Given the description of an element on the screen output the (x, y) to click on. 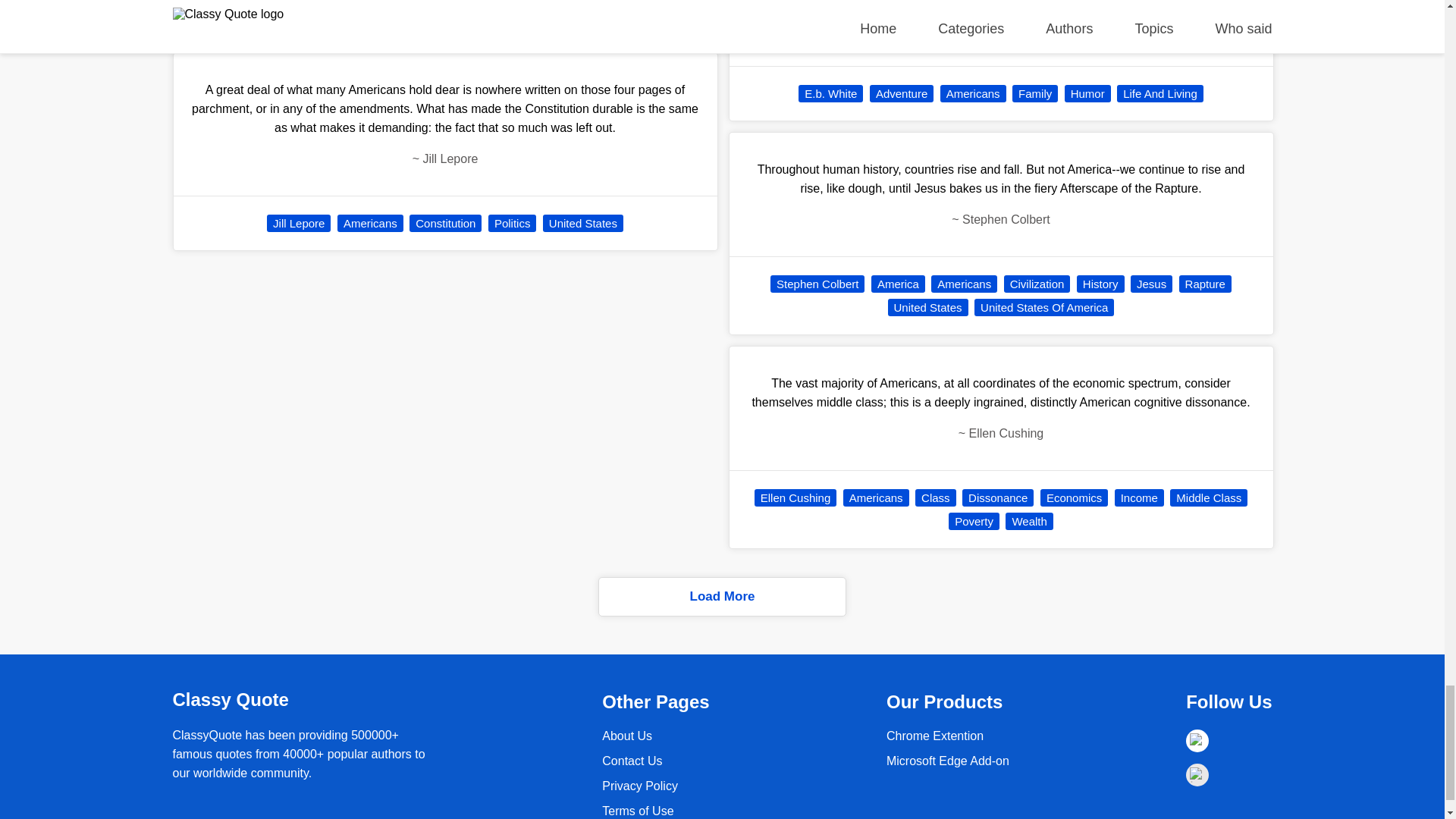
Facebook (1197, 740)
Instagram coming soon (1197, 774)
Chrome Extention (935, 735)
Chrome Extention (947, 760)
